Given the description of an element on the screen output the (x, y) to click on. 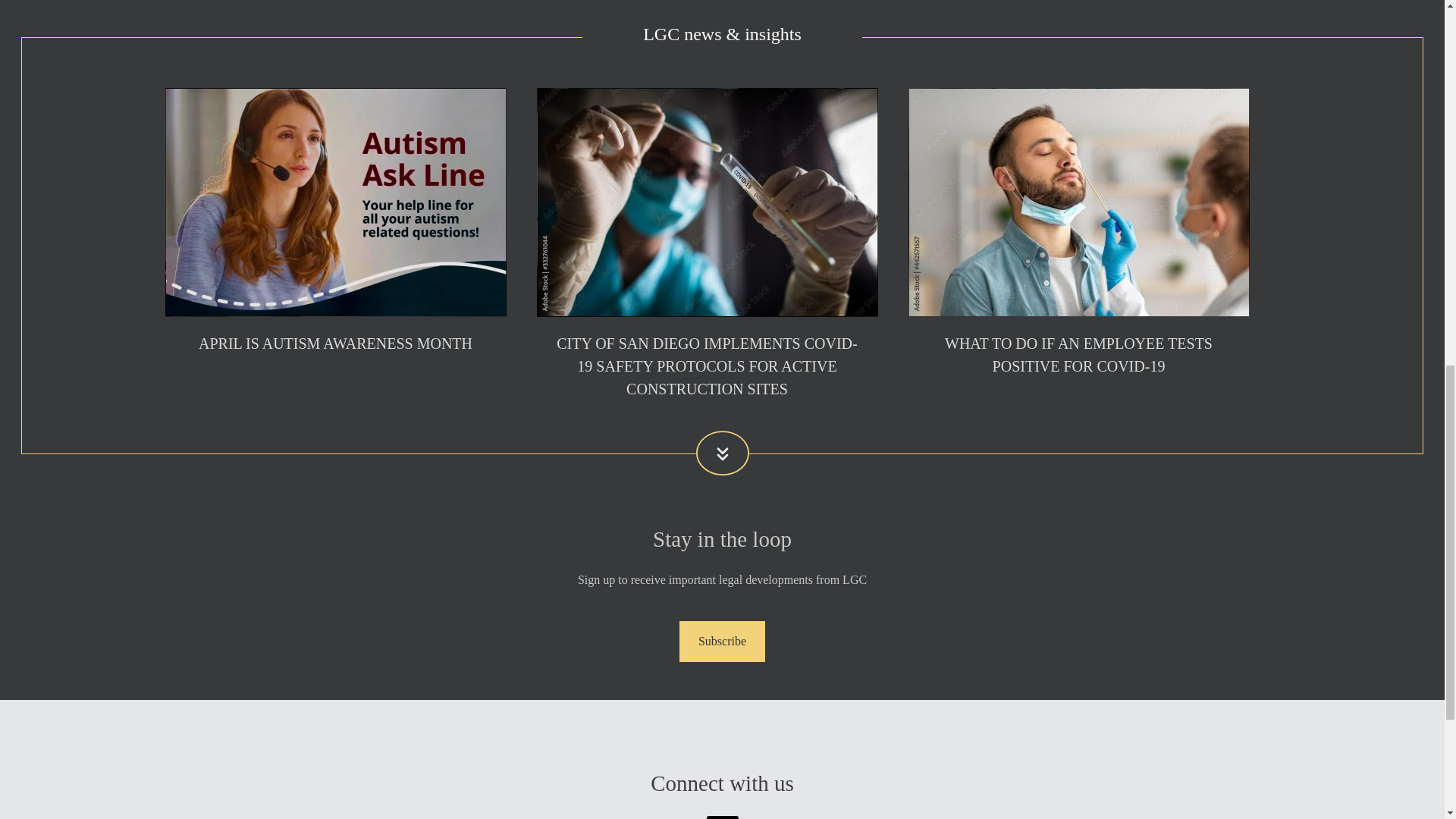
Doctor holding a coronavirus COVID-19 test tube (707, 201)
